Given the description of an element on the screen output the (x, y) to click on. 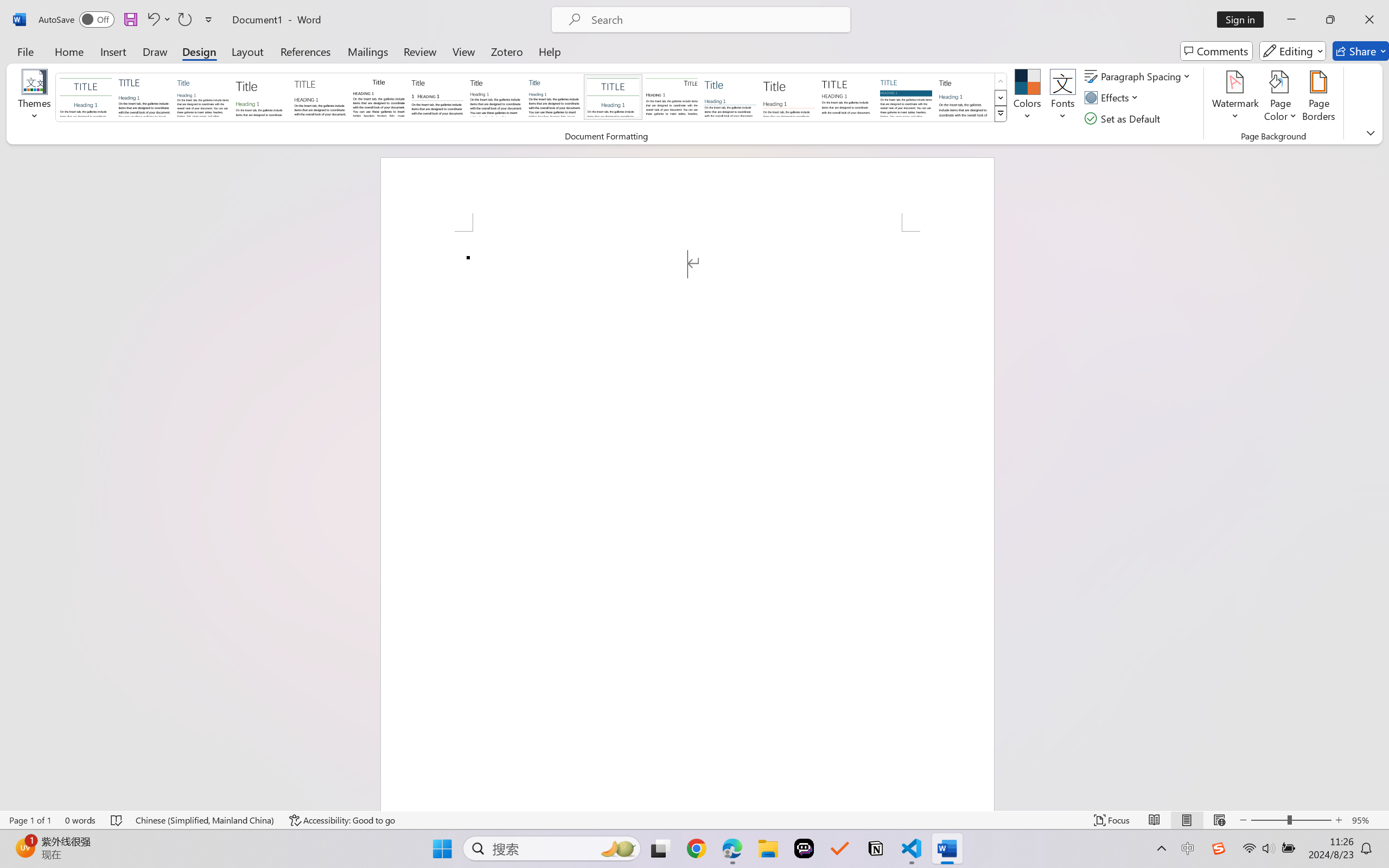
Watermark (1235, 97)
Black & White (Classic) (379, 96)
Shaded (905, 96)
